Given the description of an element on the screen output the (x, y) to click on. 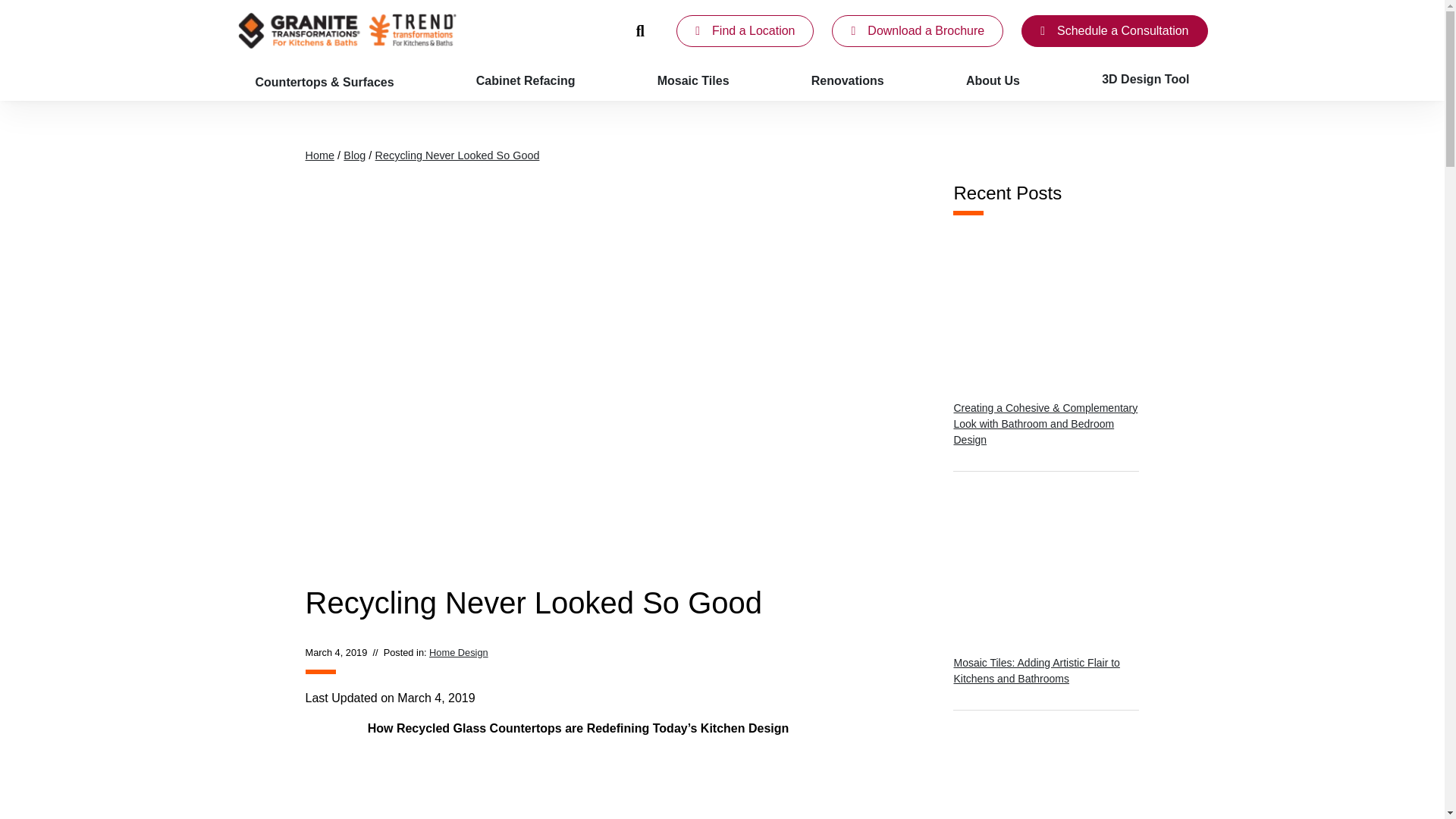
Schedule a Consultation (1114, 30)
About Us (992, 81)
Mosaic Tiles (693, 81)
Cabinet Refacing (526, 81)
Find a Location (745, 30)
Download a Brochure (917, 30)
Renovations (847, 81)
3D Design Tool (1145, 80)
